Given the description of an element on the screen output the (x, y) to click on. 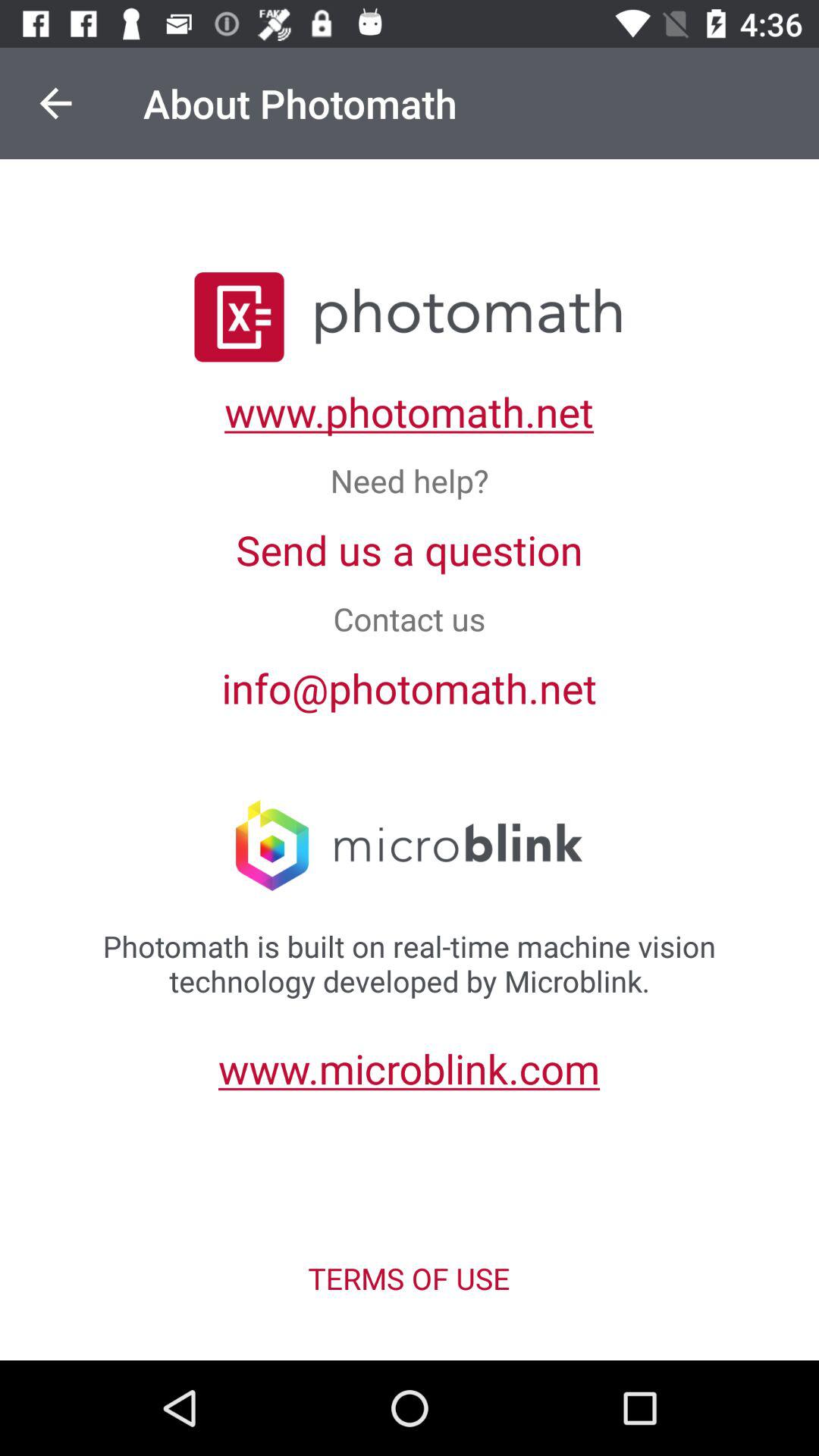
click on the link above terms of use (409, 1068)
click on the text below contact us (409, 687)
click on microblink with icon (408, 847)
click on terms of use (409, 1278)
click on wwwphotomathnet (408, 411)
